Given the description of an element on the screen output the (x, y) to click on. 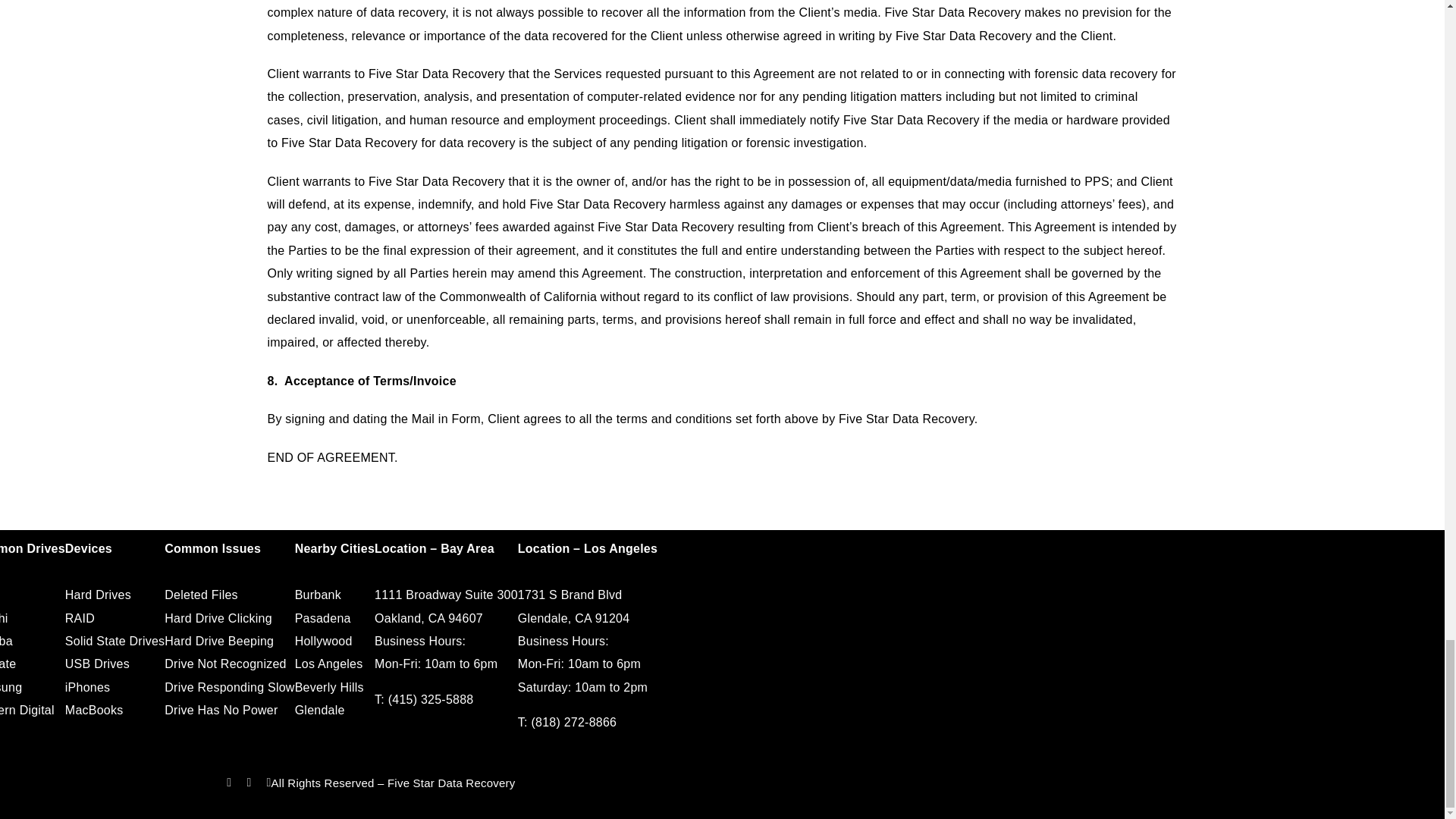
Western Digital (27, 709)
MacBooks (94, 709)
Seagate (8, 663)
RAID (79, 617)
USB Drives (97, 663)
Toshiba (6, 640)
Solid State Drives (114, 640)
Samsung (10, 686)
Hard Drives (98, 594)
iPhones (87, 686)
